Given the description of an element on the screen output the (x, y) to click on. 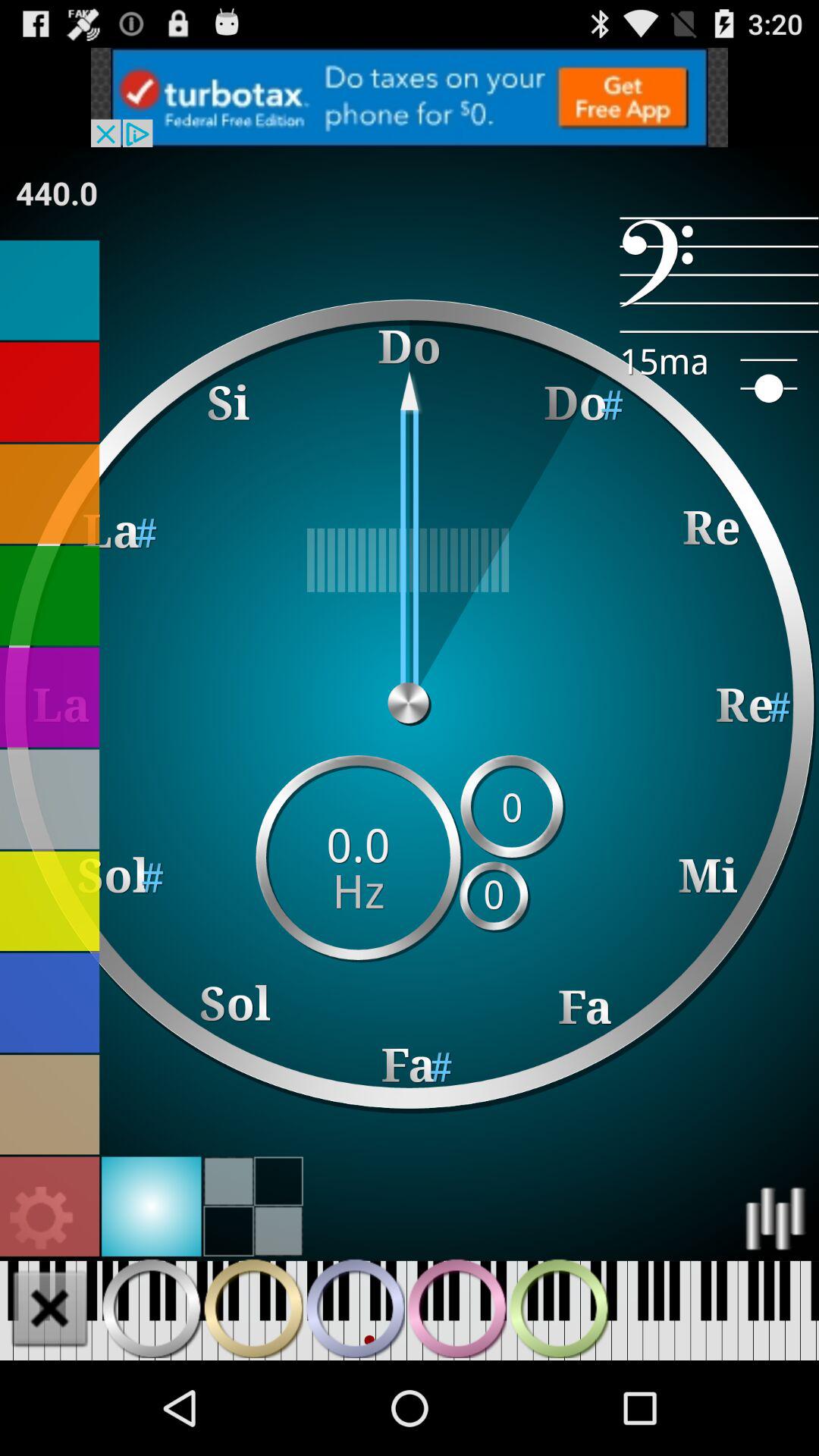
select orange color background (49, 493)
